Given the description of an element on the screen output the (x, y) to click on. 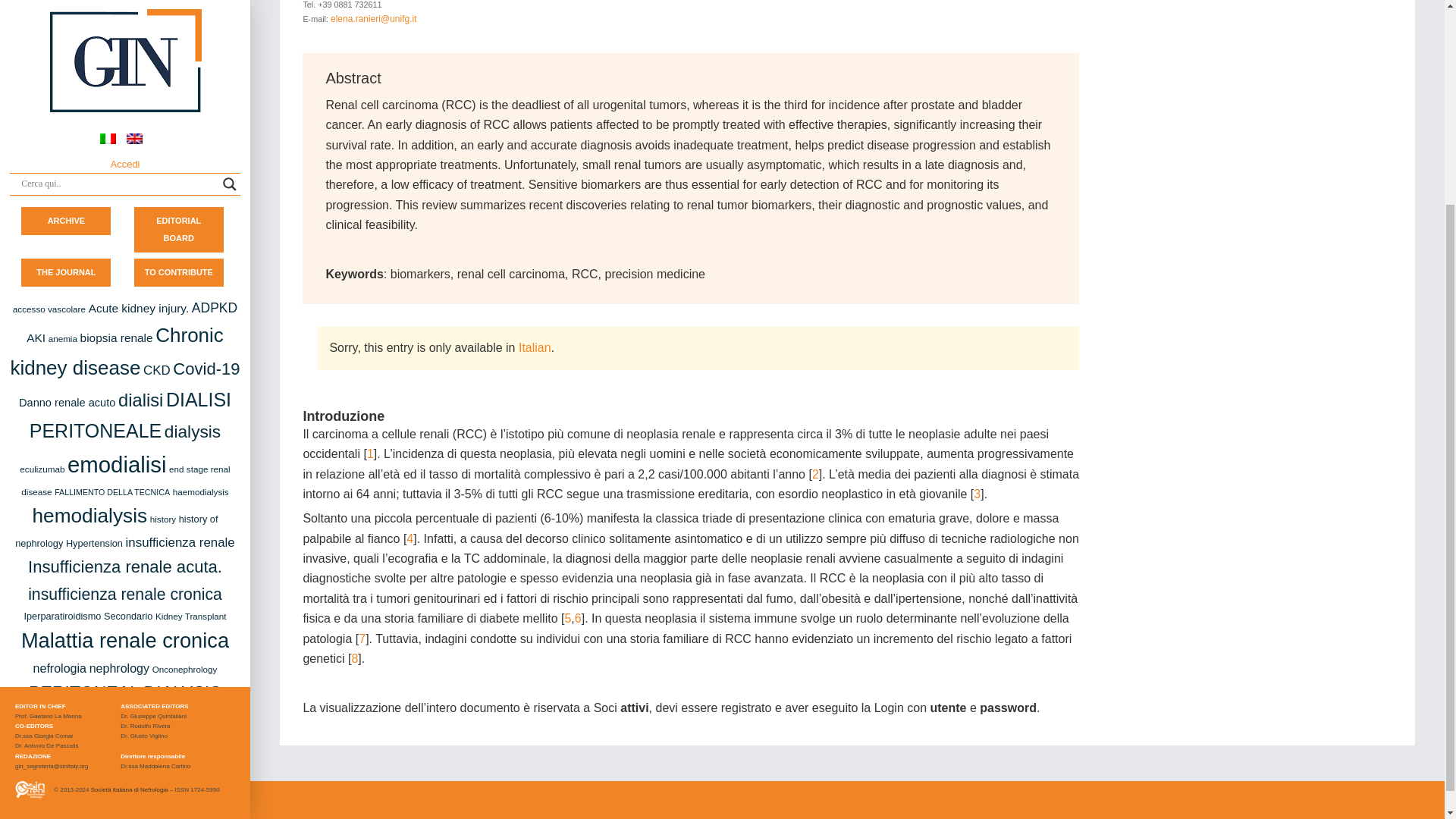
emodialisi (115, 193)
insufficienza renale (179, 271)
Covid-19 (206, 97)
biopsia renale (116, 66)
Insufficienza renale acuta. (124, 295)
hemodialysis (90, 244)
Italiano (534, 347)
Malattia renale cronica (124, 369)
haemodialysis (200, 221)
DIALISI PERITONEALE (130, 143)
